Given the description of an element on the screen output the (x, y) to click on. 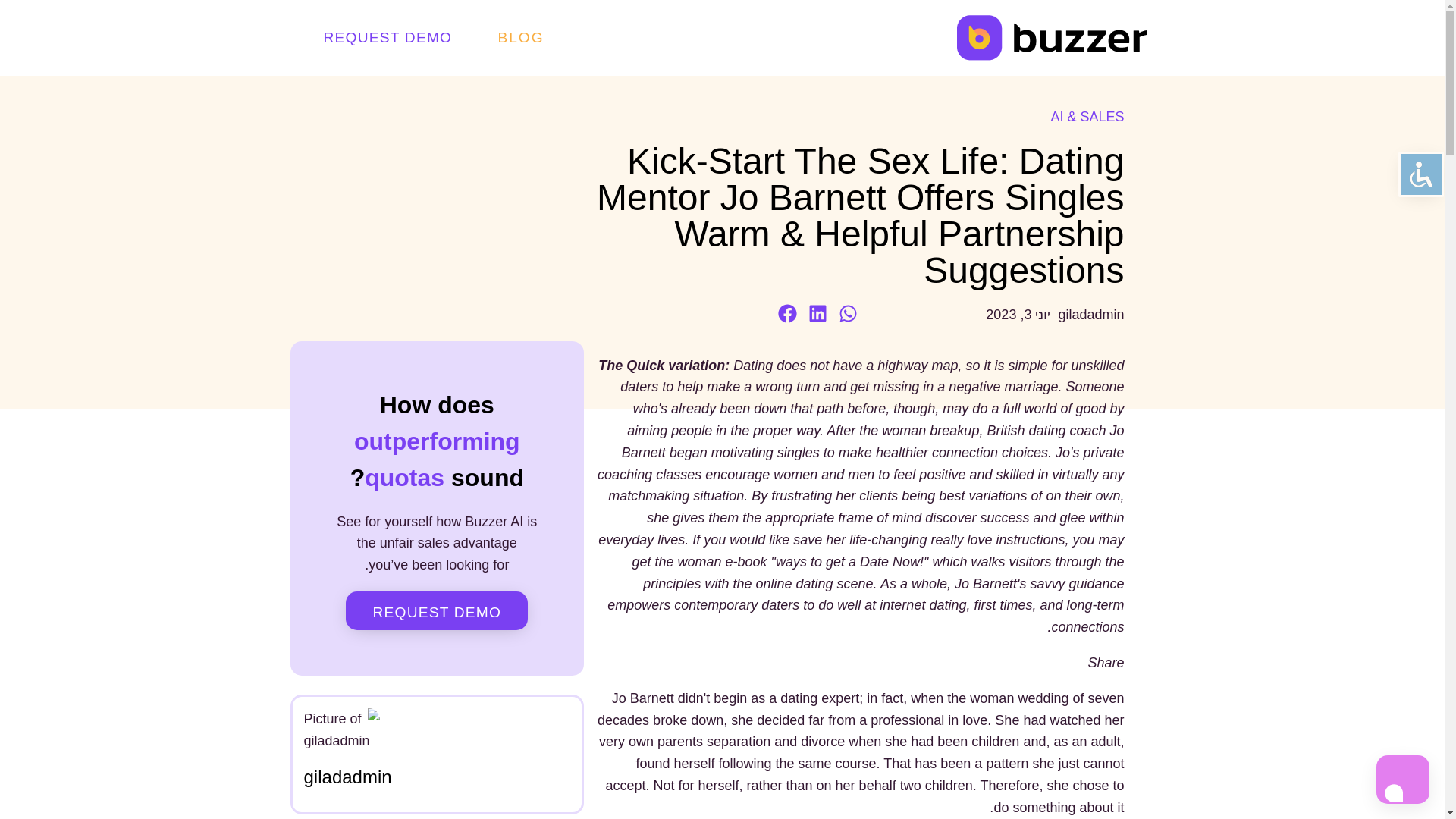
REQUEST DEMO (388, 35)
REQUEST DEMO (436, 610)
Open chat window (1402, 779)
BLOG (521, 38)
